Given the description of an element on the screen output the (x, y) to click on. 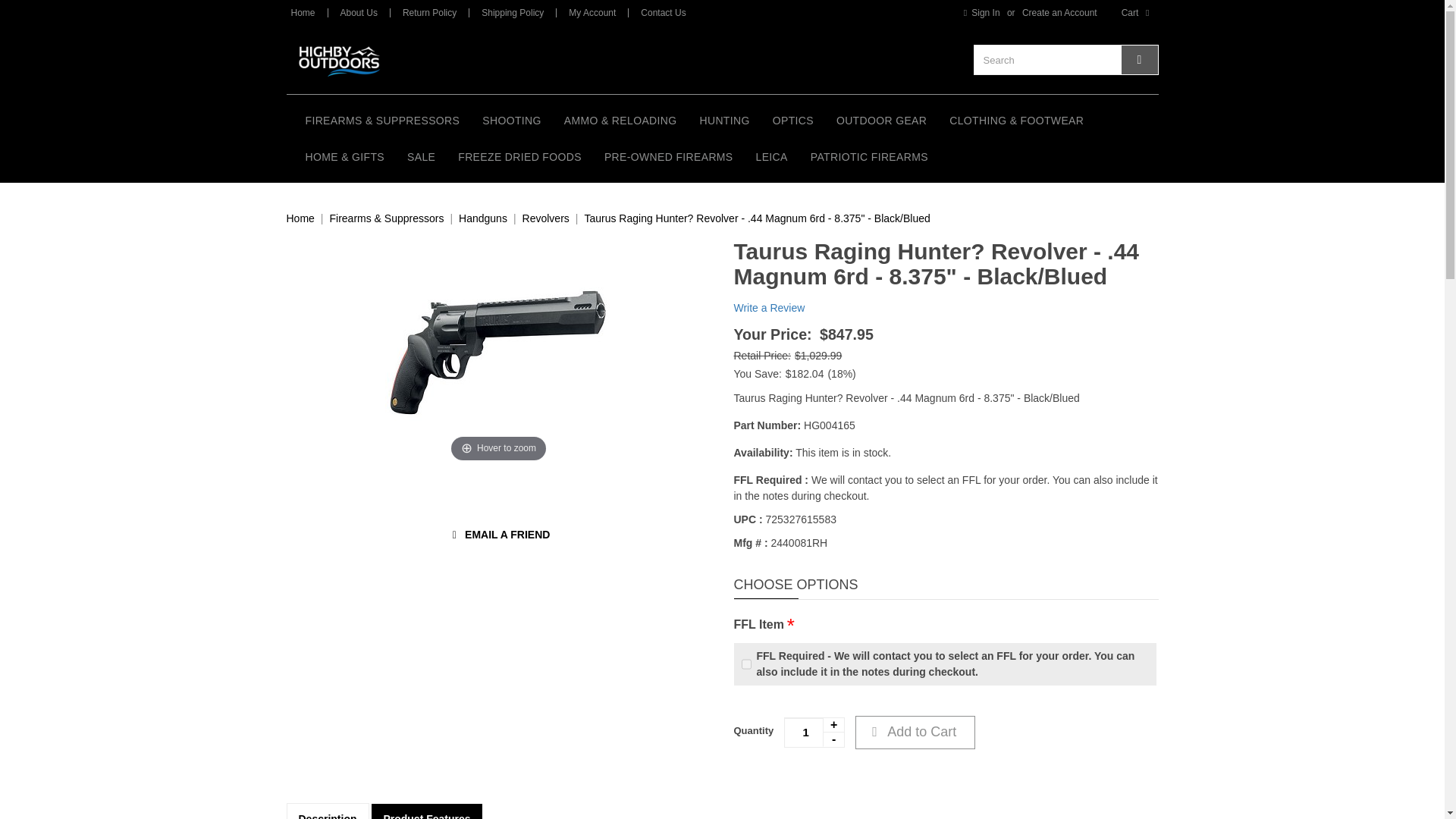
Sign In (978, 12)
Revolvers (545, 218)
Contact Us (663, 12)
PATRIOTIC FIREARMS (869, 156)
PRE-OWNED FIREARMS (668, 156)
LEICA (771, 156)
SALE (421, 156)
SHOOTING (510, 120)
Create an Account (1059, 12)
1 (814, 732)
OUTDOOR GEAR (881, 120)
My Account (592, 12)
HUNTING (723, 120)
OPTICS (793, 120)
Return Policy (429, 12)
